Given the description of an element on the screen output the (x, y) to click on. 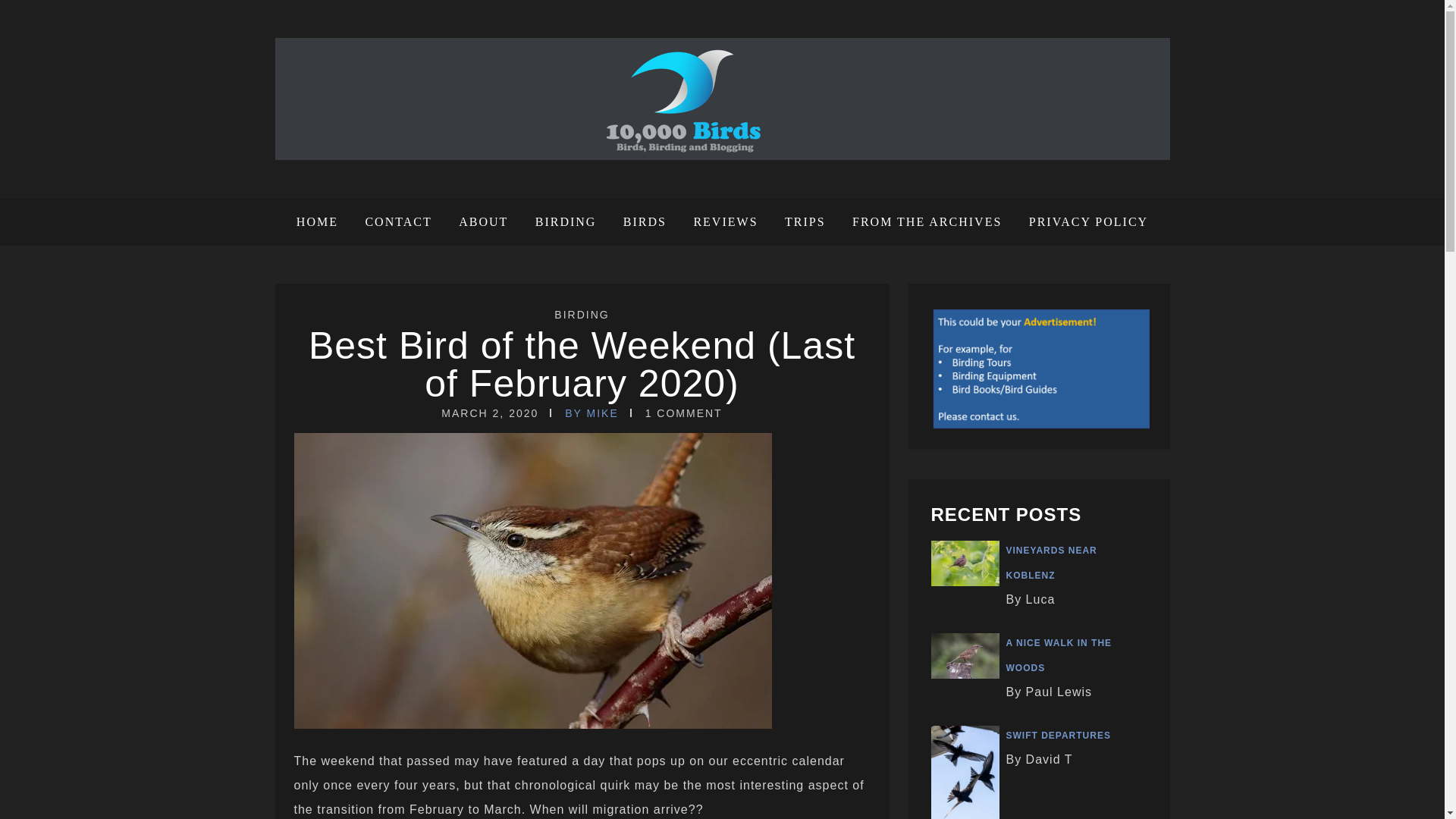
PRIVACY POLICY (1082, 222)
REVIEWS (724, 222)
Permanent (582, 364)
HOME (323, 222)
BIRDS (644, 222)
FROM THE ARCHIVES (927, 222)
ABOUT (482, 222)
1 COMMENT (683, 413)
TRIPS (805, 222)
BY MIKE (591, 413)
BIRDING (566, 222)
CONTACT (397, 222)
MARCH 2, 2020 (489, 413)
BIRDING (581, 314)
